Given the description of an element on the screen output the (x, y) to click on. 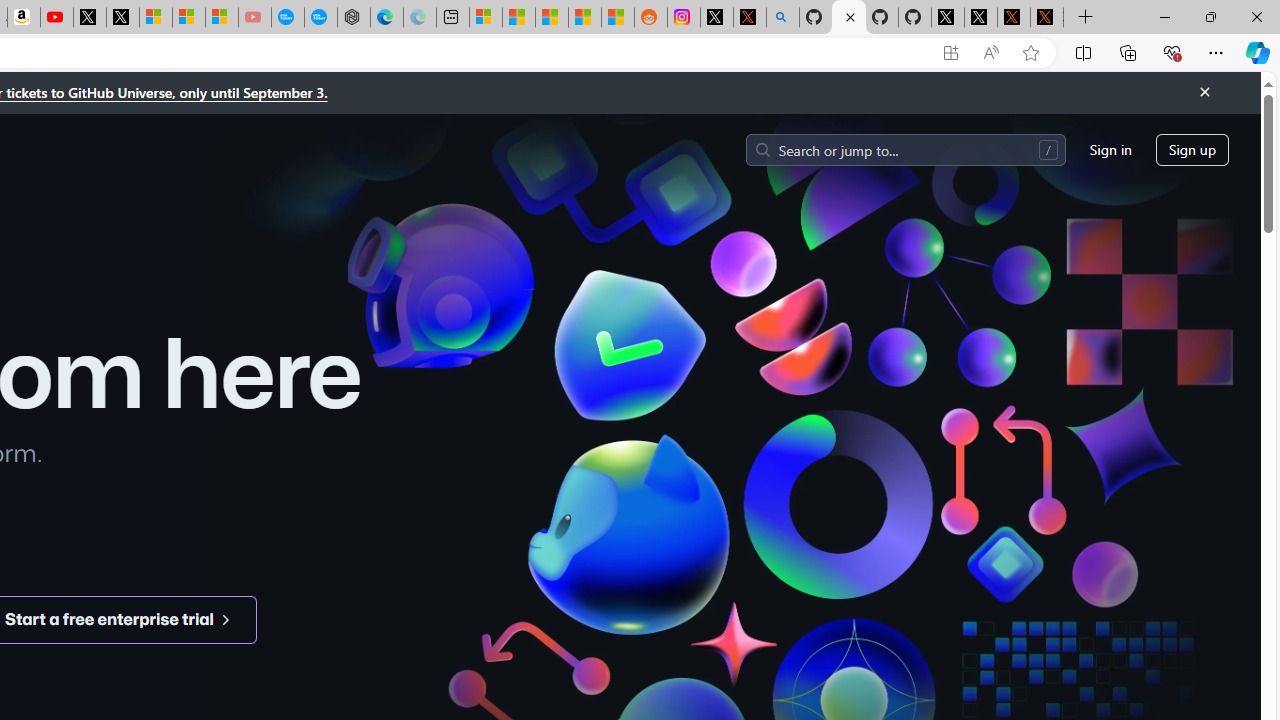
Shanghai, China hourly forecast | Microsoft Weather (552, 17)
Shanghai, China Weather trends | Microsoft Weather (617, 17)
github - Search (782, 17)
Opinion: Op-Ed and Commentary - USA TODAY (287, 17)
Class: octicon arrow-symbol-mktg (225, 619)
Profile / X (947, 17)
